Given the description of an element on the screen output the (x, y) to click on. 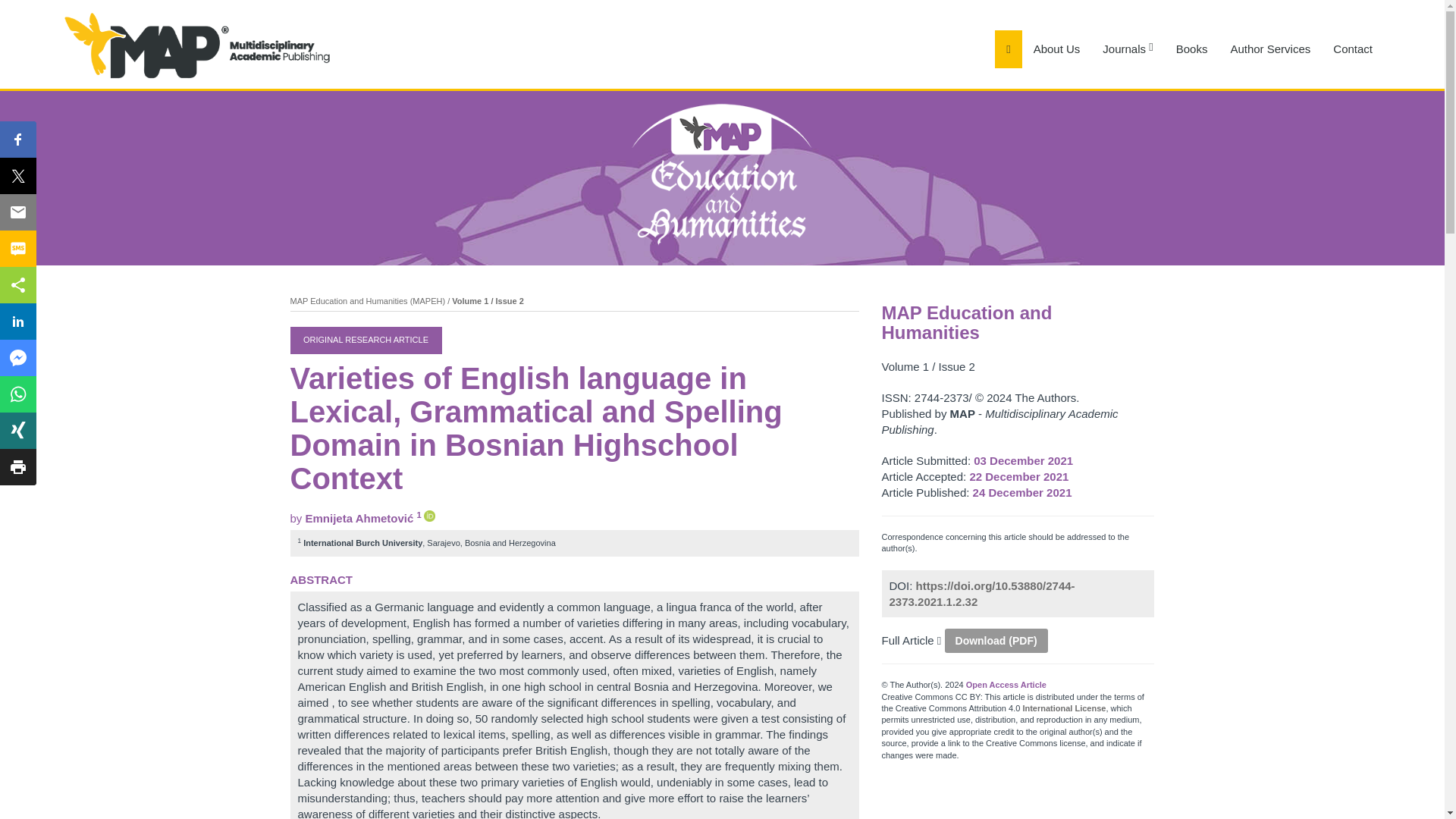
Author Services (1270, 48)
Contact (1353, 48)
About Us (1057, 48)
International License (1063, 707)
Books (1192, 48)
Journals (1126, 48)
